Given the description of an element on the screen output the (x, y) to click on. 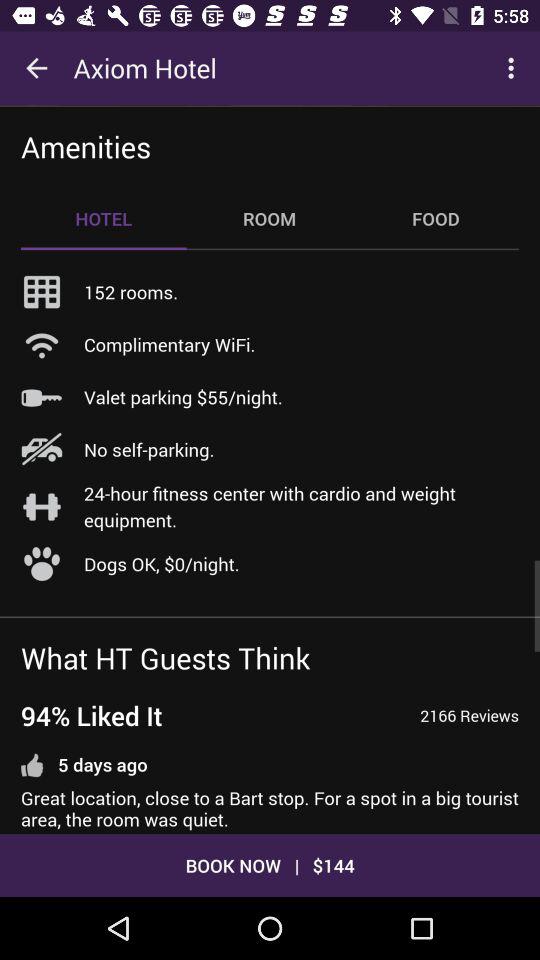
open the item to the right of axiom hotel (513, 67)
